Given the description of an element on the screen output the (x, y) to click on. 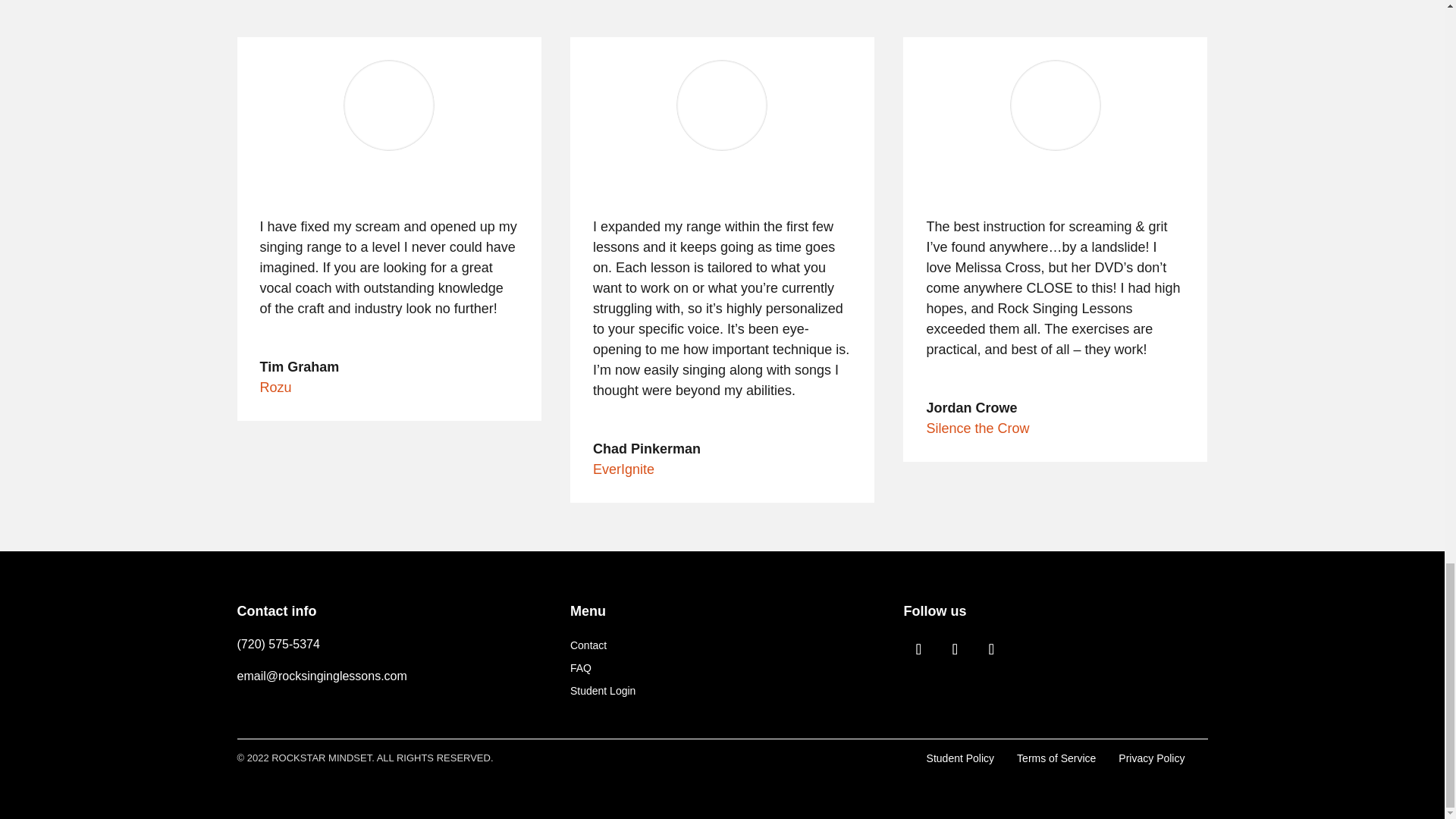
Follow on Facebook (917, 648)
Follow on Instagram (990, 648)
Terms of Service (1056, 758)
Rozu (275, 387)
Student Login (602, 693)
Follow on Youtube (954, 648)
Silence the Crow (977, 427)
Student Policy (960, 758)
Contact (588, 647)
Privacy Policy (1151, 758)
